Given the description of an element on the screen output the (x, y) to click on. 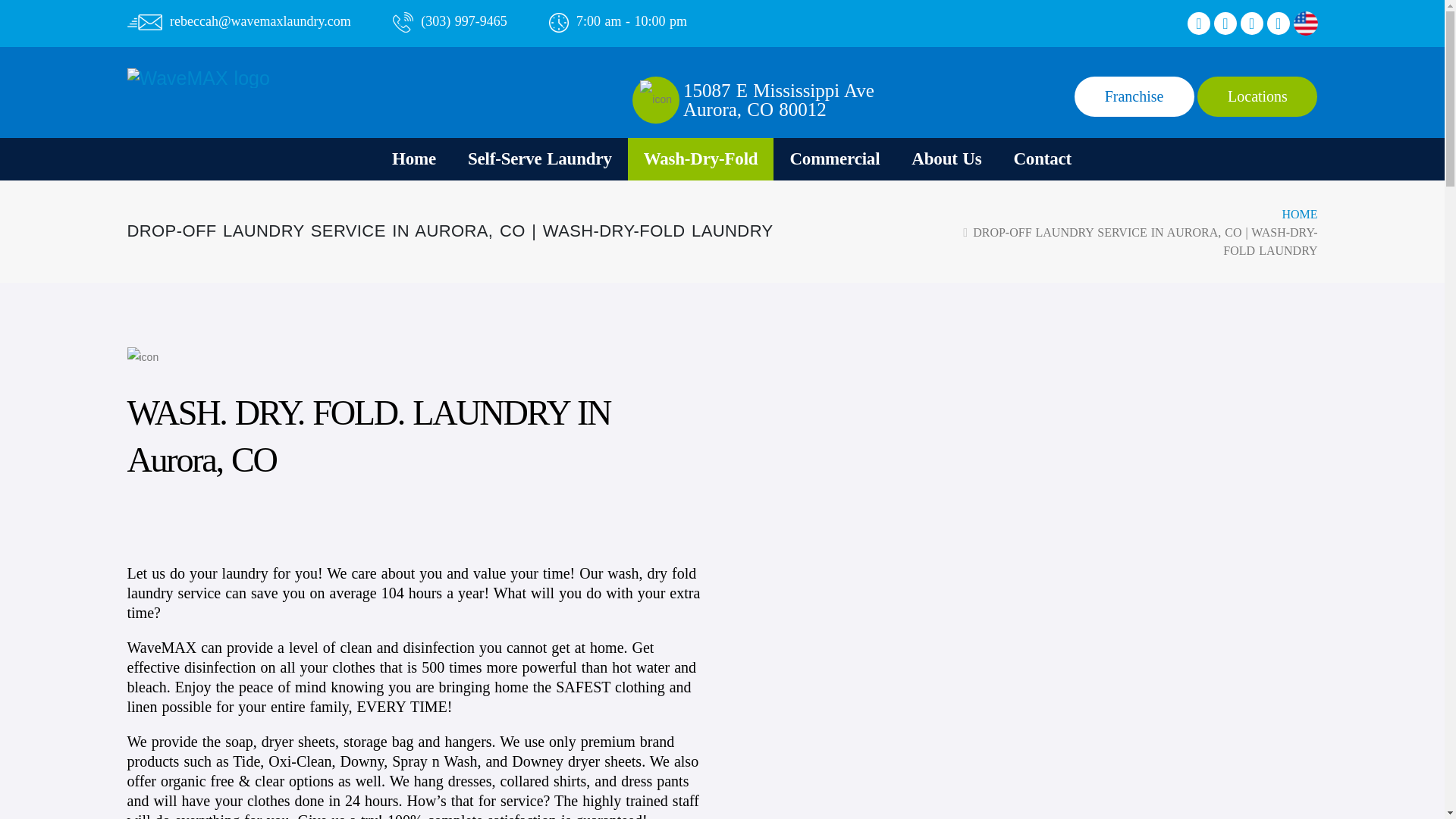
7:00 am - 10:00 pm (617, 20)
Link to Instagram (1225, 23)
Link to Google My Business (778, 99)
Link to Facebook (1251, 23)
Phone (1198, 23)
Locations (1278, 23)
Franchise (1256, 96)
